Given the description of an element on the screen output the (x, y) to click on. 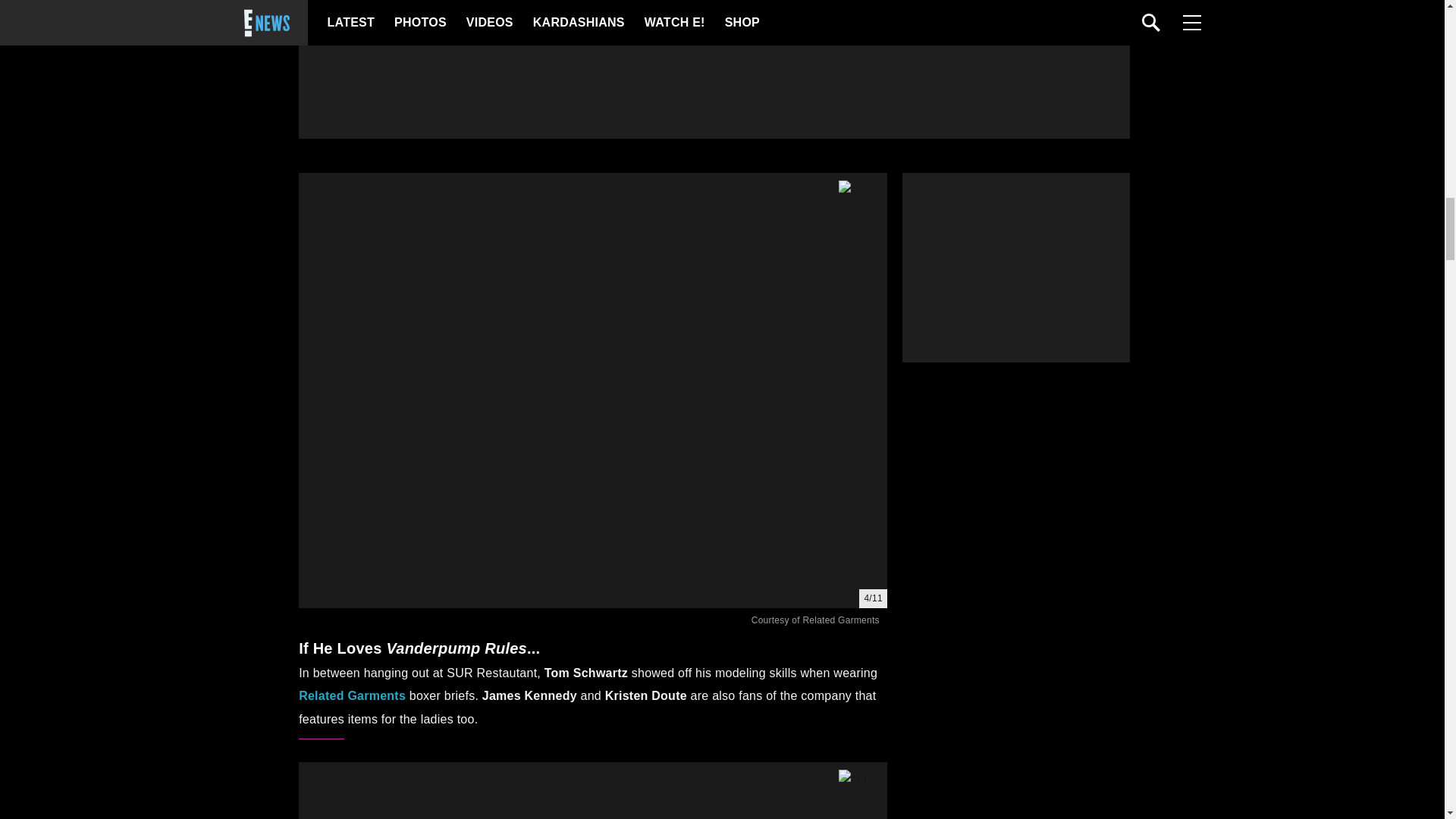
Related Garments (352, 695)
